Given the description of an element on the screen output the (x, y) to click on. 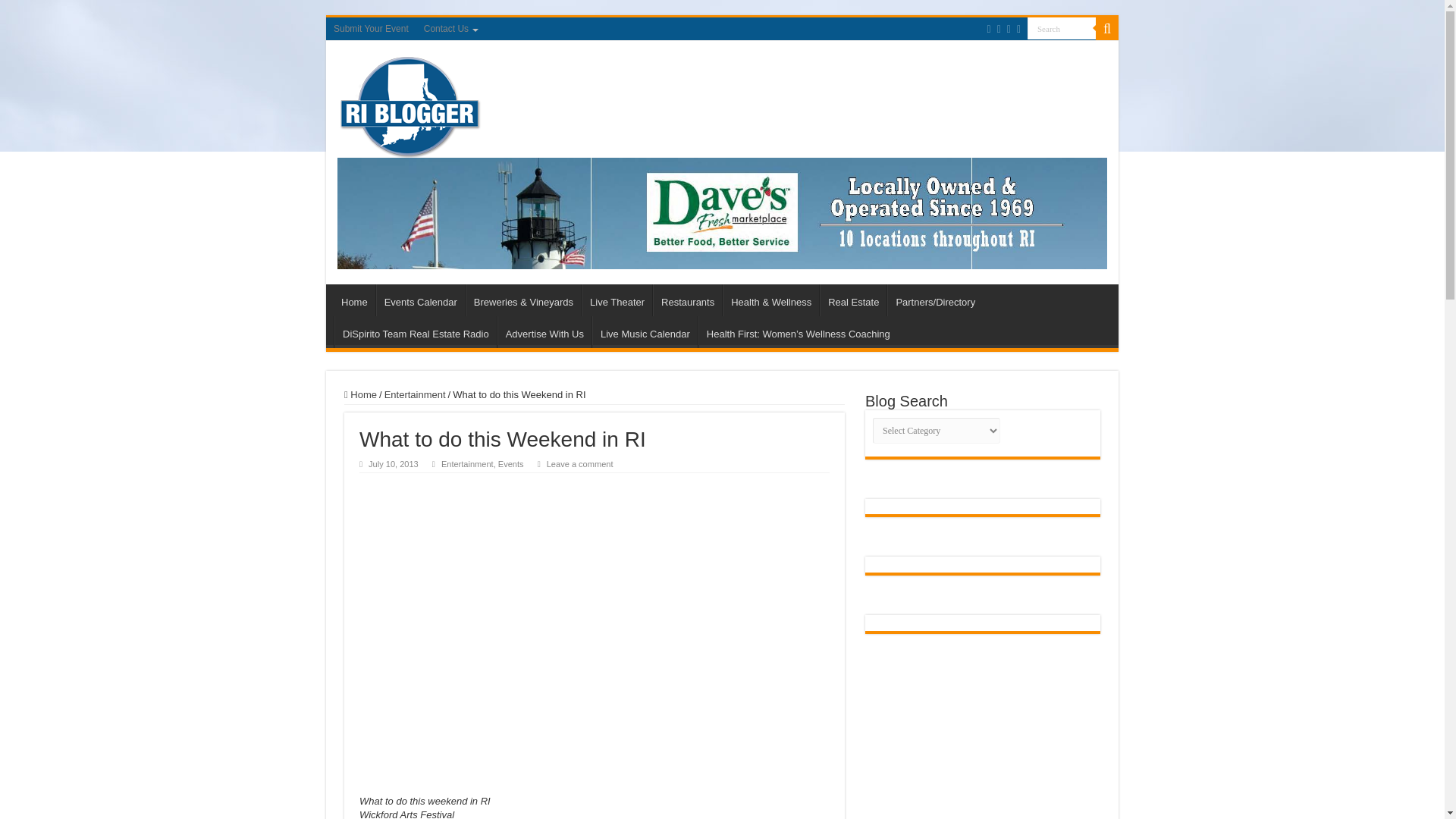
Search (1061, 28)
DiSpirito Team Real Estate Radio (415, 332)
Events Calendar (419, 300)
Home (360, 394)
Contact Us (449, 28)
Entertainment (414, 394)
Real Estate (852, 300)
Search (1061, 28)
Restaurants (687, 300)
Submit Your Event (371, 28)
